Given the description of an element on the screen output the (x, y) to click on. 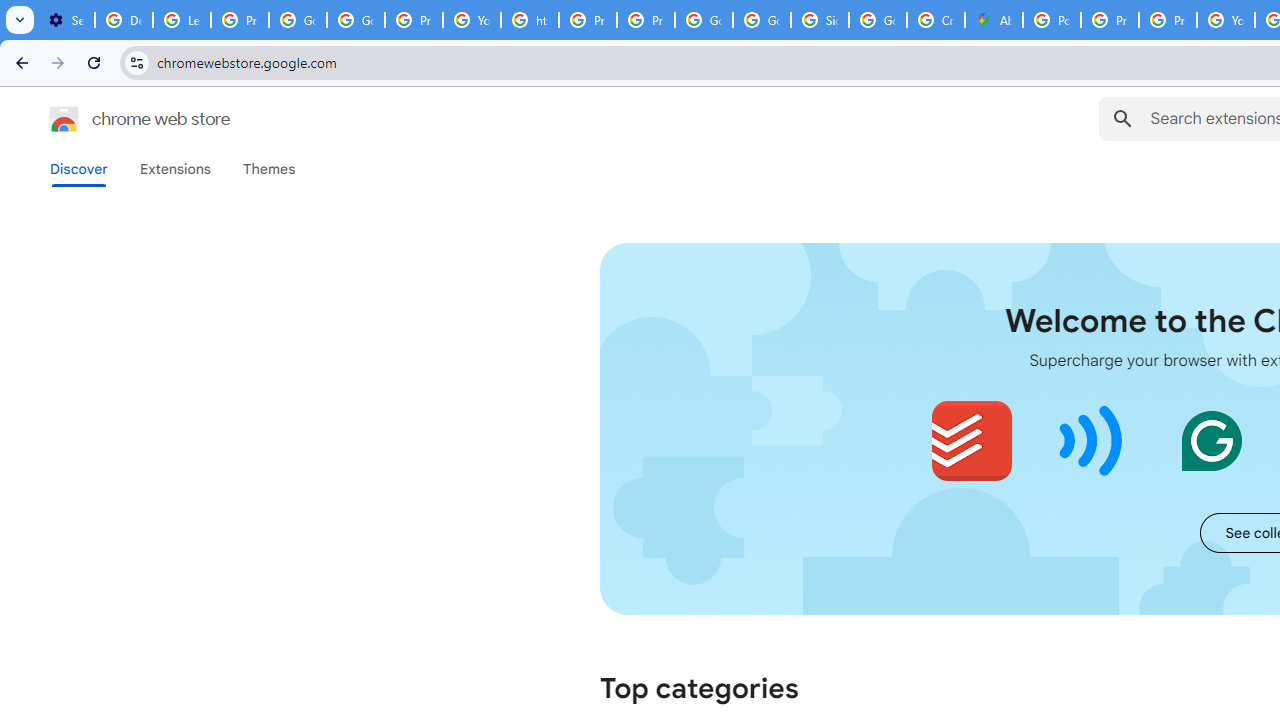
Discover (79, 169)
Create your Google Account (936, 20)
Chrome Web Store logo (63, 118)
Todoist for Chrome (971, 440)
Google Account Help (297, 20)
Volume Master (1091, 440)
Themes (269, 169)
Sign in - Google Accounts (819, 20)
